Given the description of an element on the screen output the (x, y) to click on. 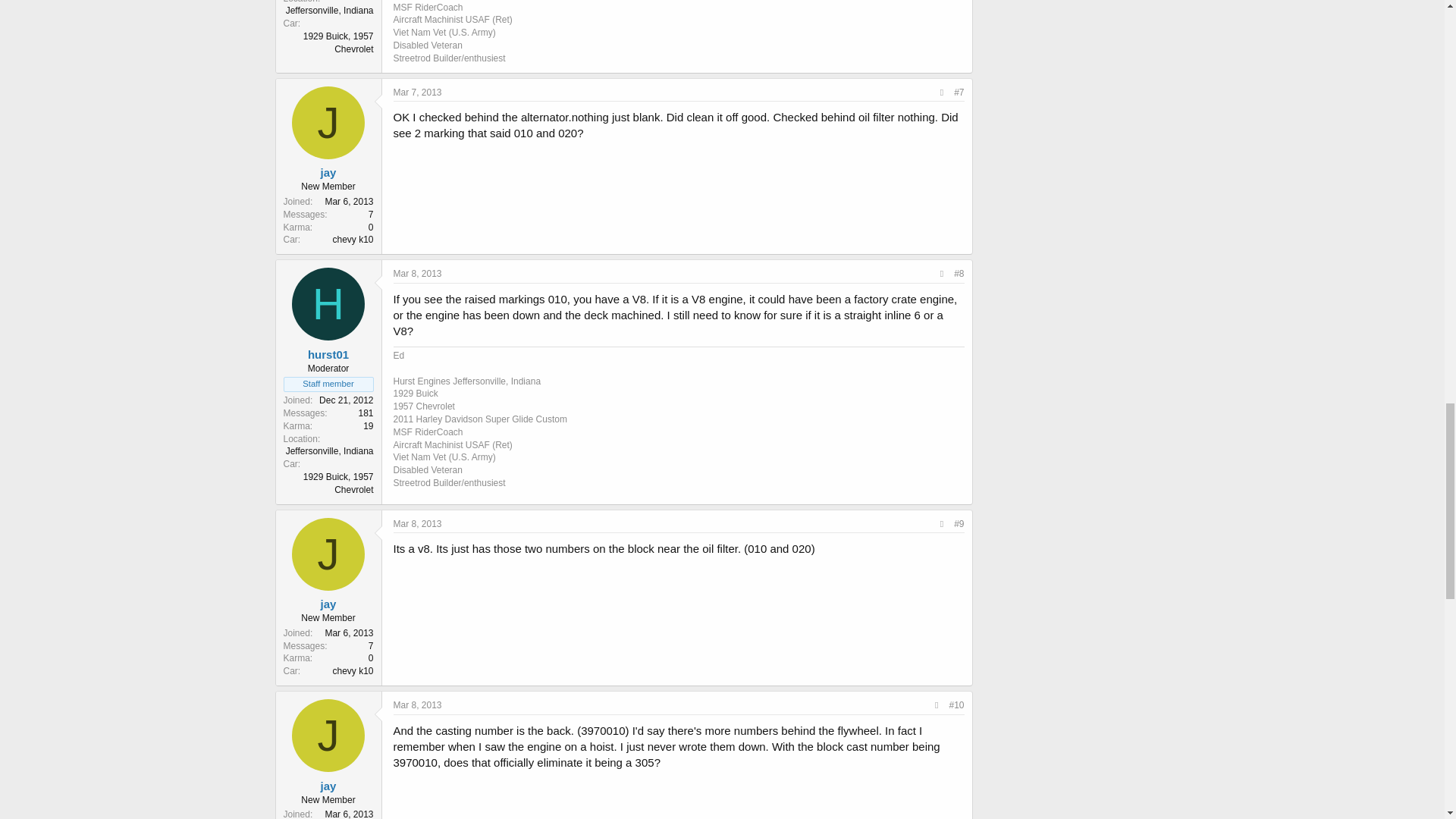
Mar 8, 2013 at 12:21 AM (417, 273)
Mar 7, 2013 at 5:07 PM (417, 91)
Mar 8, 2013 at 5:08 AM (417, 523)
Mar 8, 2013 at 5:15 AM (417, 705)
